Given the description of an element on the screen output the (x, y) to click on. 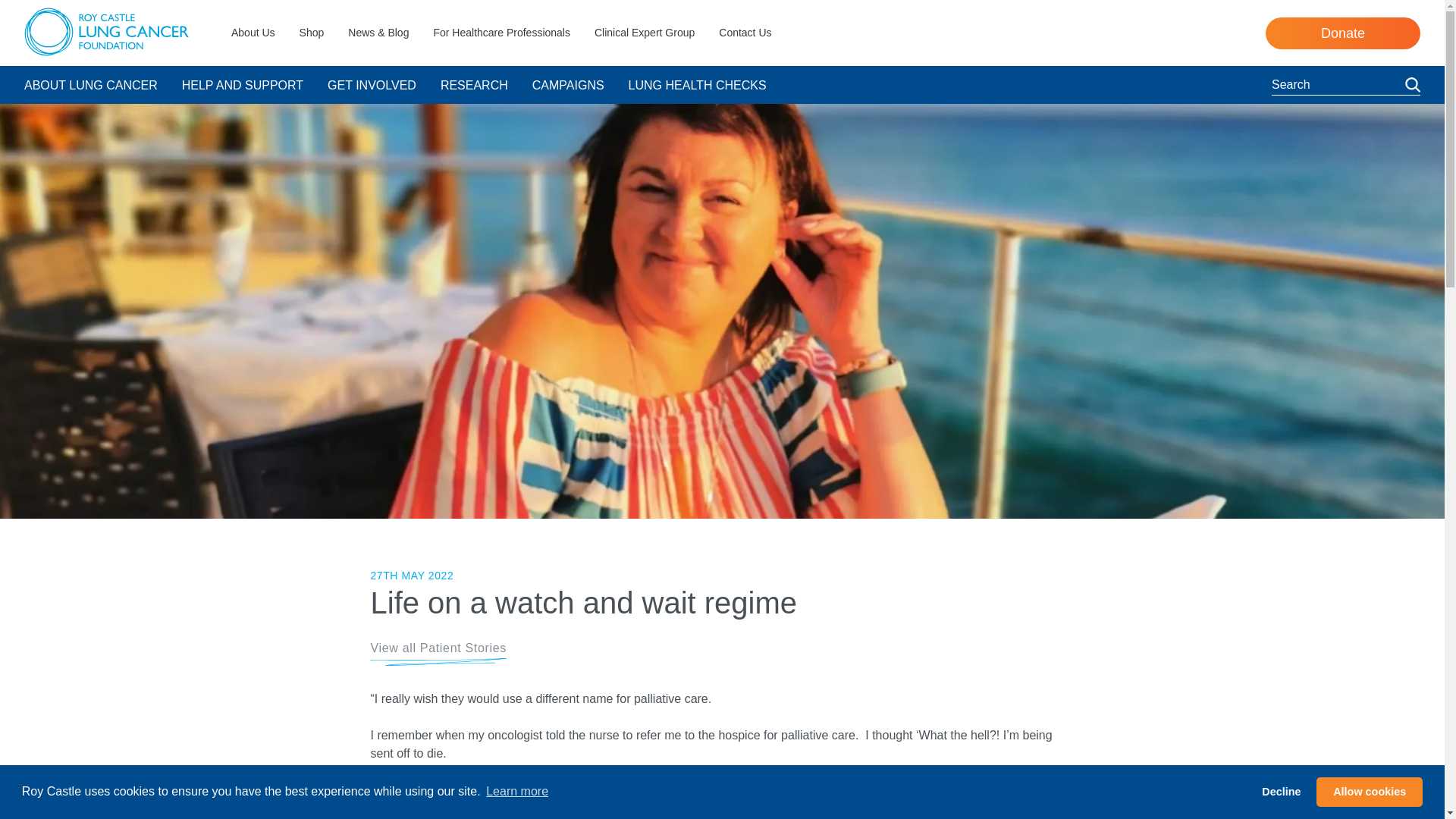
Roy Castle Lung Cancer Foundation (106, 31)
Shop (324, 32)
Decline (1281, 791)
Contact Us (756, 32)
Donate (1343, 32)
Clinical Expert Group (656, 32)
ABOUT LUNG CANCER (103, 85)
Allow cookies (1369, 791)
Learn more (516, 791)
For Healthcare Professionals (513, 32)
About Us (265, 32)
